Given the description of an element on the screen output the (x, y) to click on. 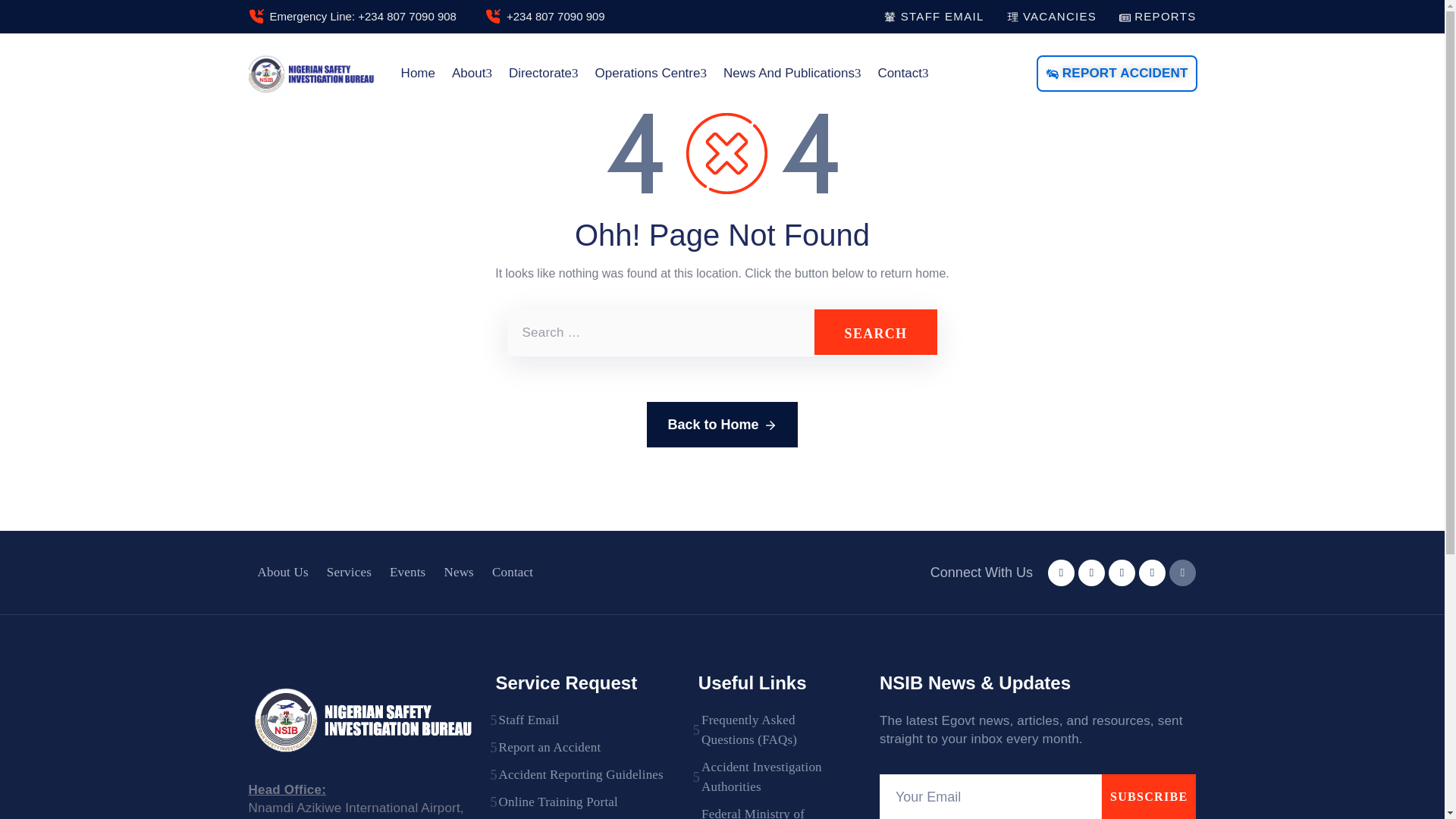
STAFF EMAIL (933, 16)
VACANCIES (1052, 16)
REPORTS (1157, 16)
Search (875, 331)
Subscribe (1149, 796)
Operations Centre (650, 73)
Directorate (543, 73)
Search (875, 331)
News And Publications (791, 73)
